Given the description of an element on the screen output the (x, y) to click on. 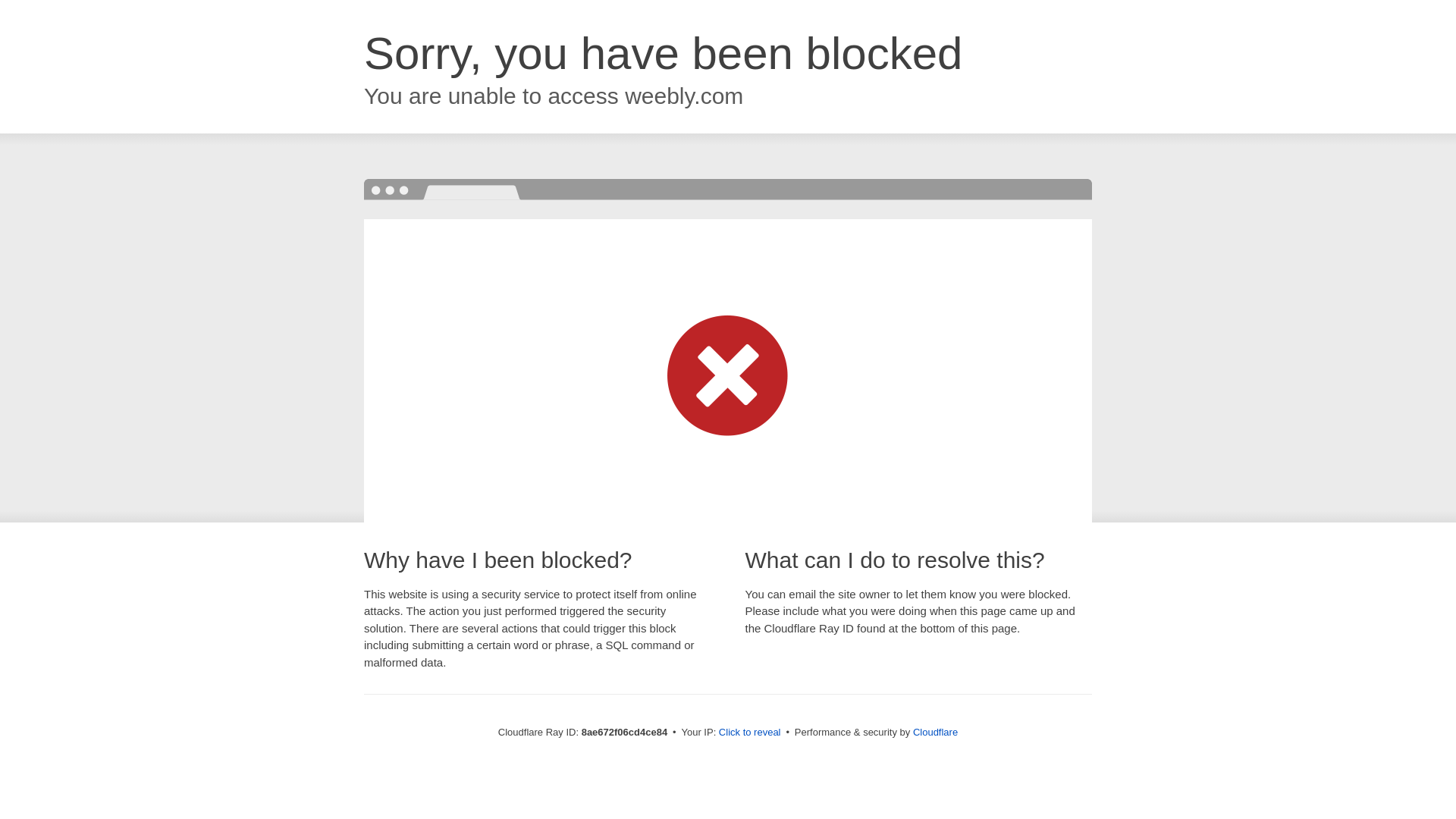
Cloudflare (935, 731)
Click to reveal (749, 732)
